Given the description of an element on the screen output the (x, y) to click on. 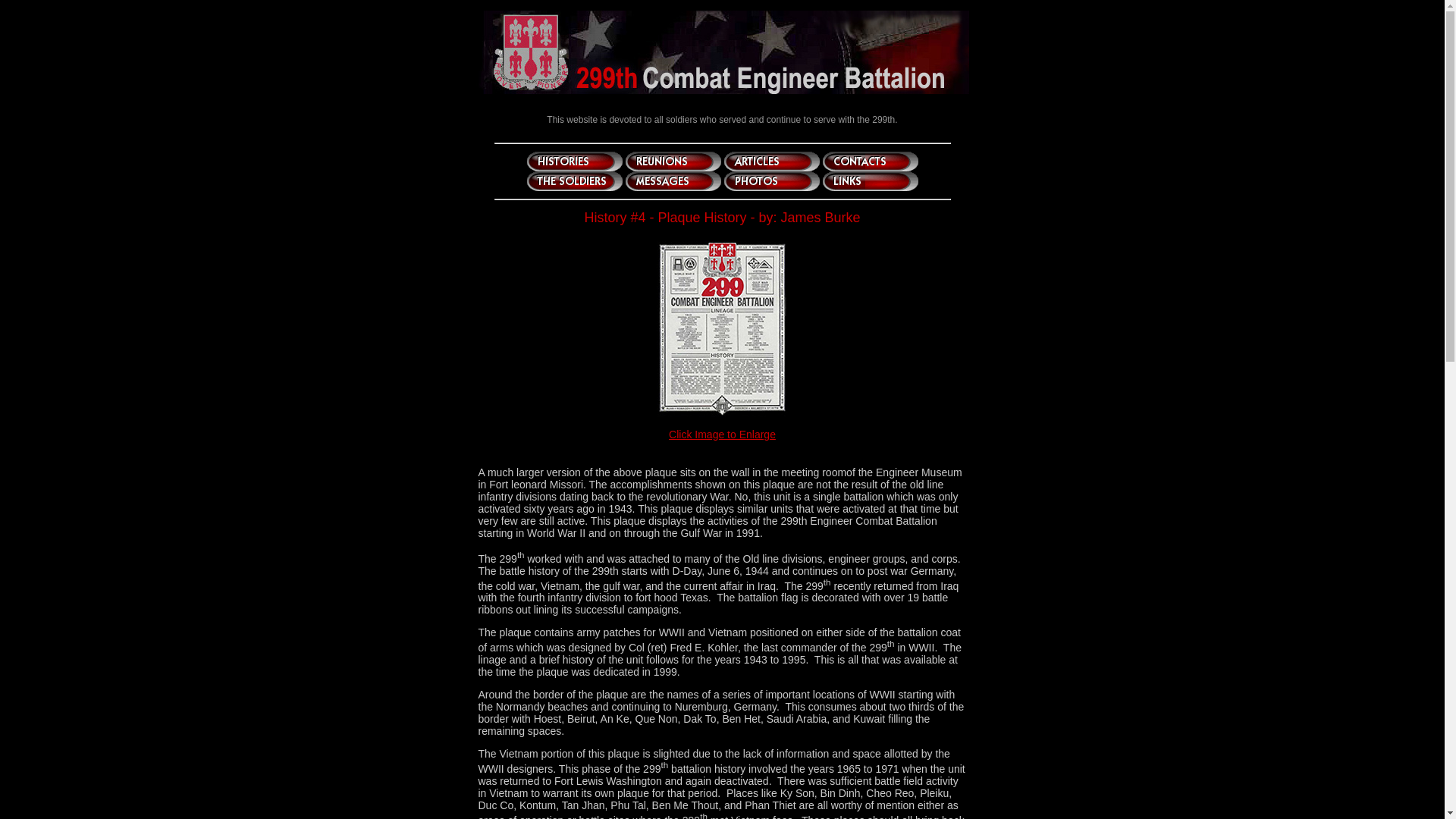
Click Image to Enlarge Element type: text (721, 434)
